Given the description of an element on the screen output the (x, y) to click on. 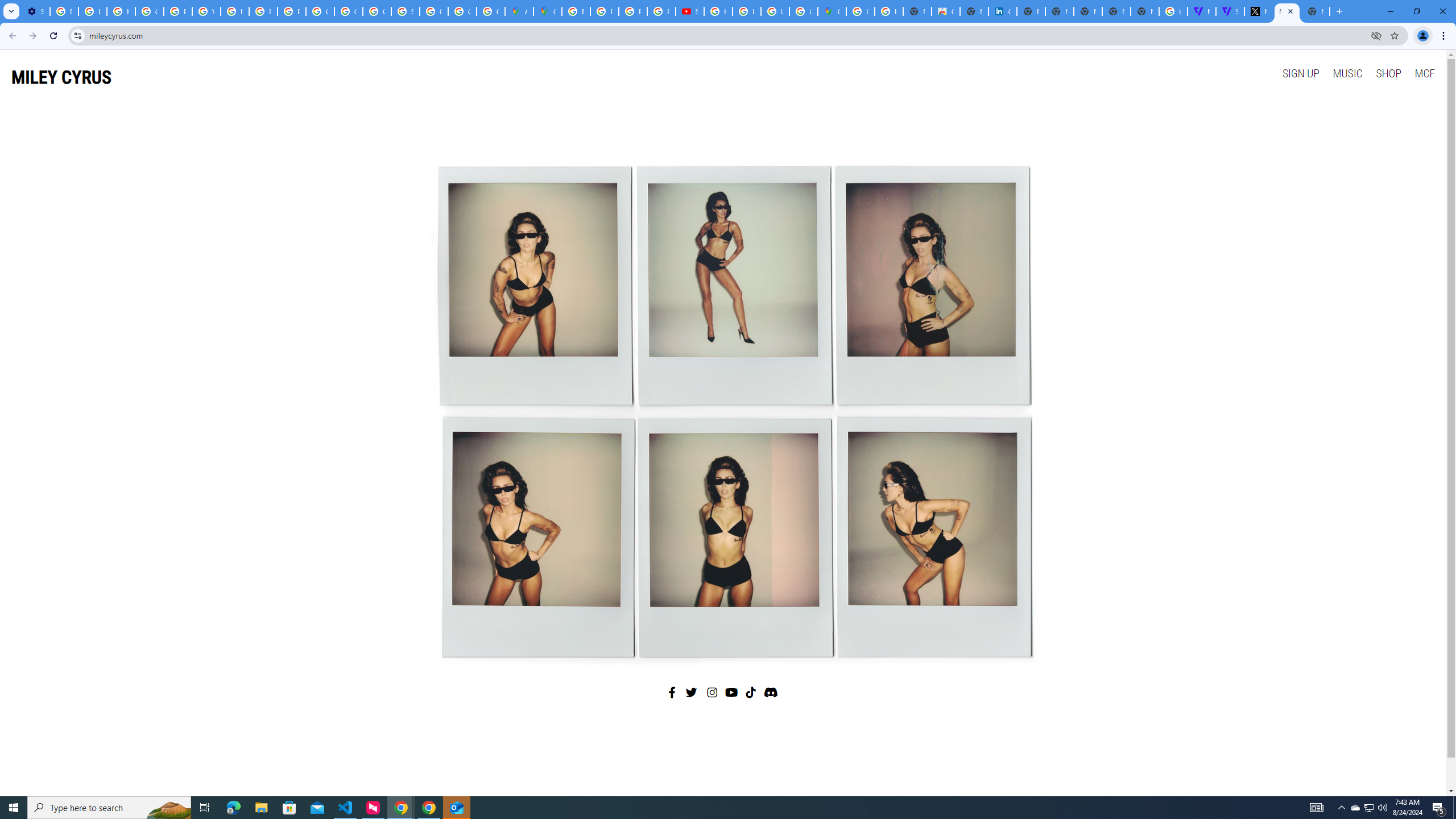
Privacy Help Center - Policies Help (604, 11)
Instagram (712, 692)
New Tab (1144, 11)
Settings - Customize profile (35, 11)
Google Maps (831, 11)
Privacy Help Center - Policies Help (632, 11)
MUSIC (1347, 73)
SIGN UP (1300, 73)
Privacy Help Center - Policies Help (263, 11)
